Given the description of an element on the screen output the (x, y) to click on. 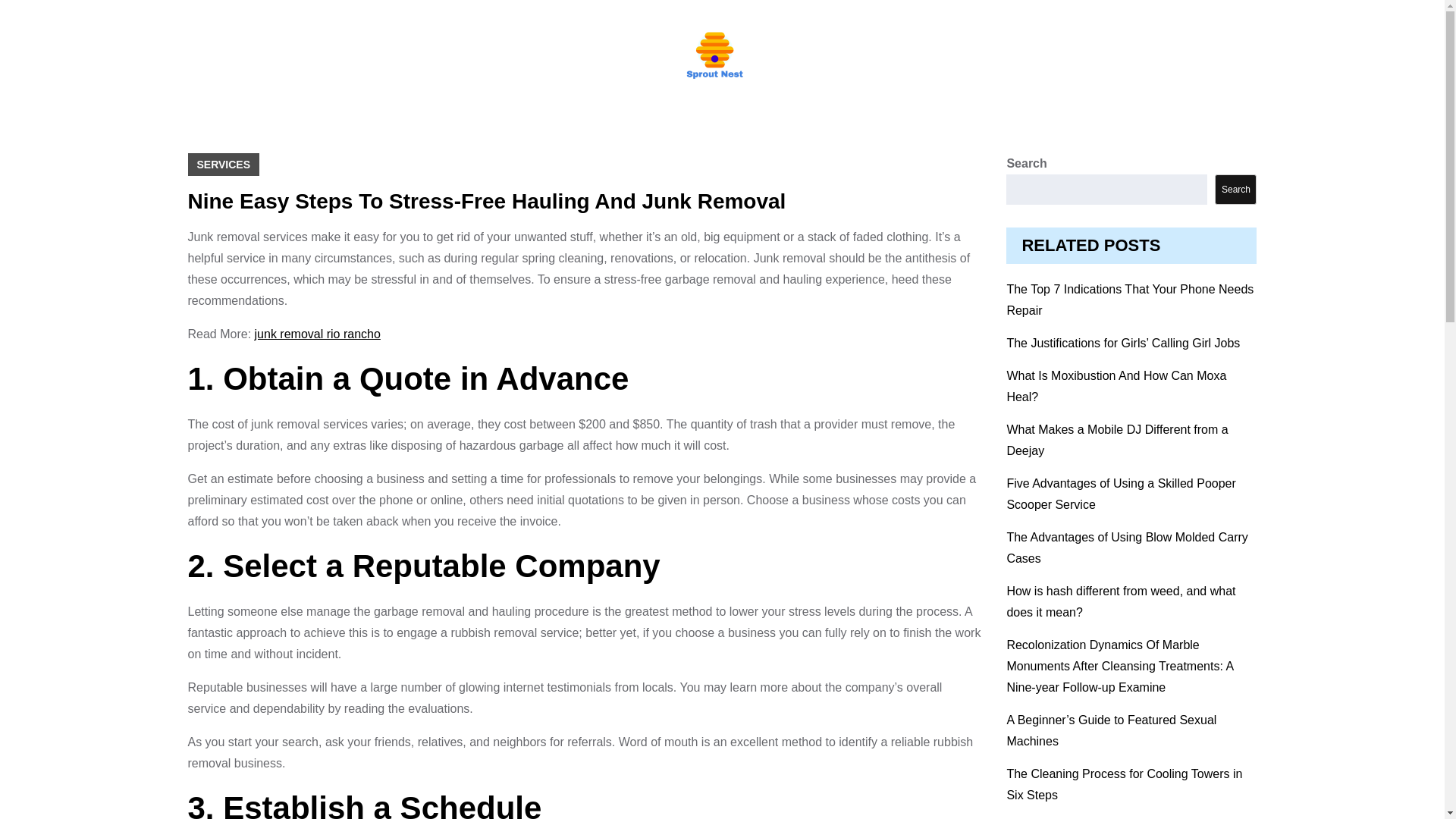
What Makes a Mobile DJ Different from a Deejay (1116, 440)
Search (1235, 189)
The Cleaning Process for Cooling Towers in Six Steps (1123, 784)
The Top 7 Indications That Your Phone Needs Repair (1129, 299)
What Is Moxibustion And How Can Moxa Heal? (1115, 386)
SERVICES (223, 164)
The Advantages of Using Blow Molded Carry Cases (1126, 547)
SPROUT NEST (657, 95)
junk removal rio rancho (317, 333)
Five Advantages of Using a Skilled Pooper Scooper Service (1120, 493)
How is hash different from weed, and what does it mean? (1120, 601)
